Given the description of an element on the screen output the (x, y) to click on. 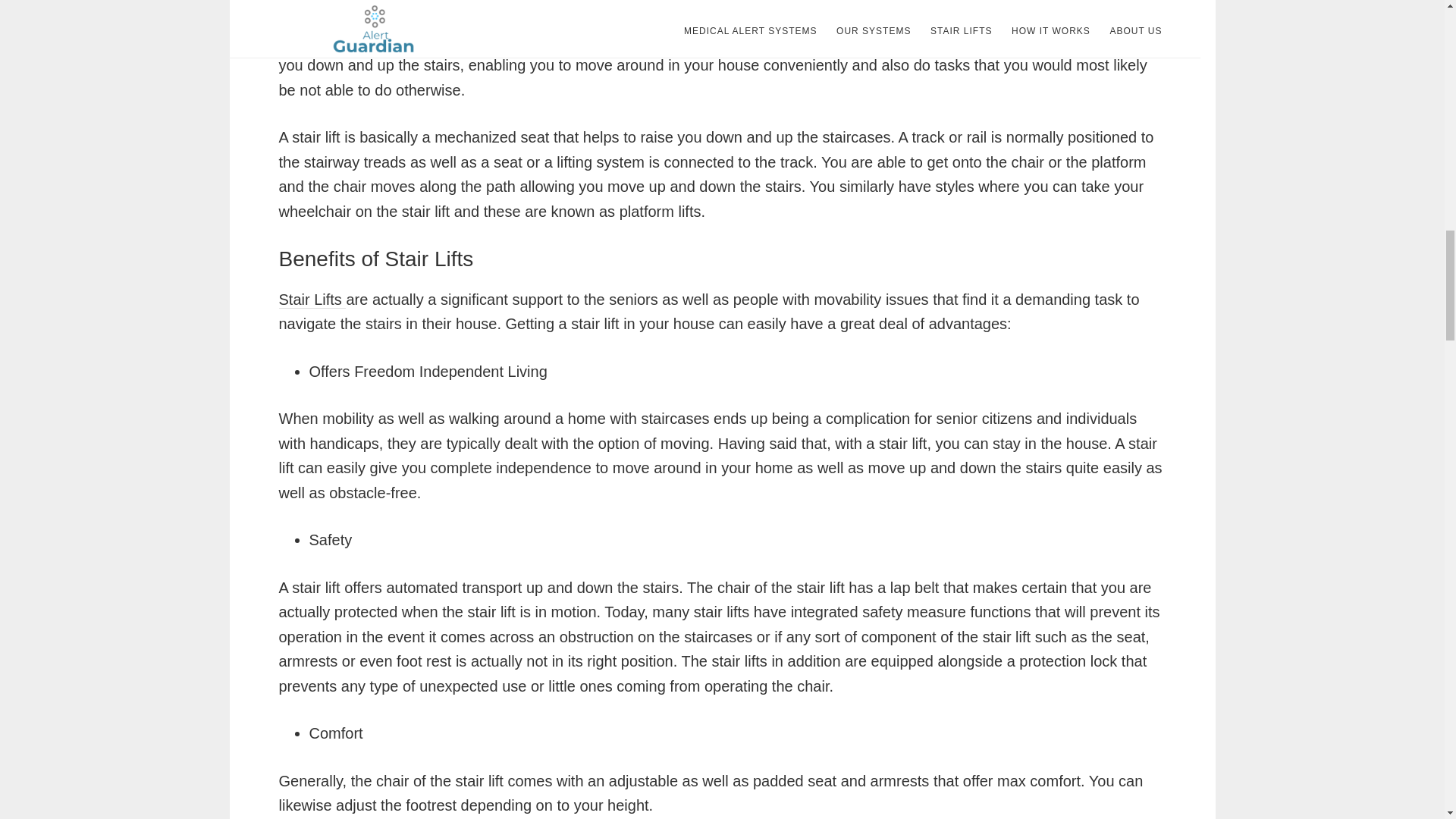
Stair Lifts (312, 299)
